Given the description of an element on the screen output the (x, y) to click on. 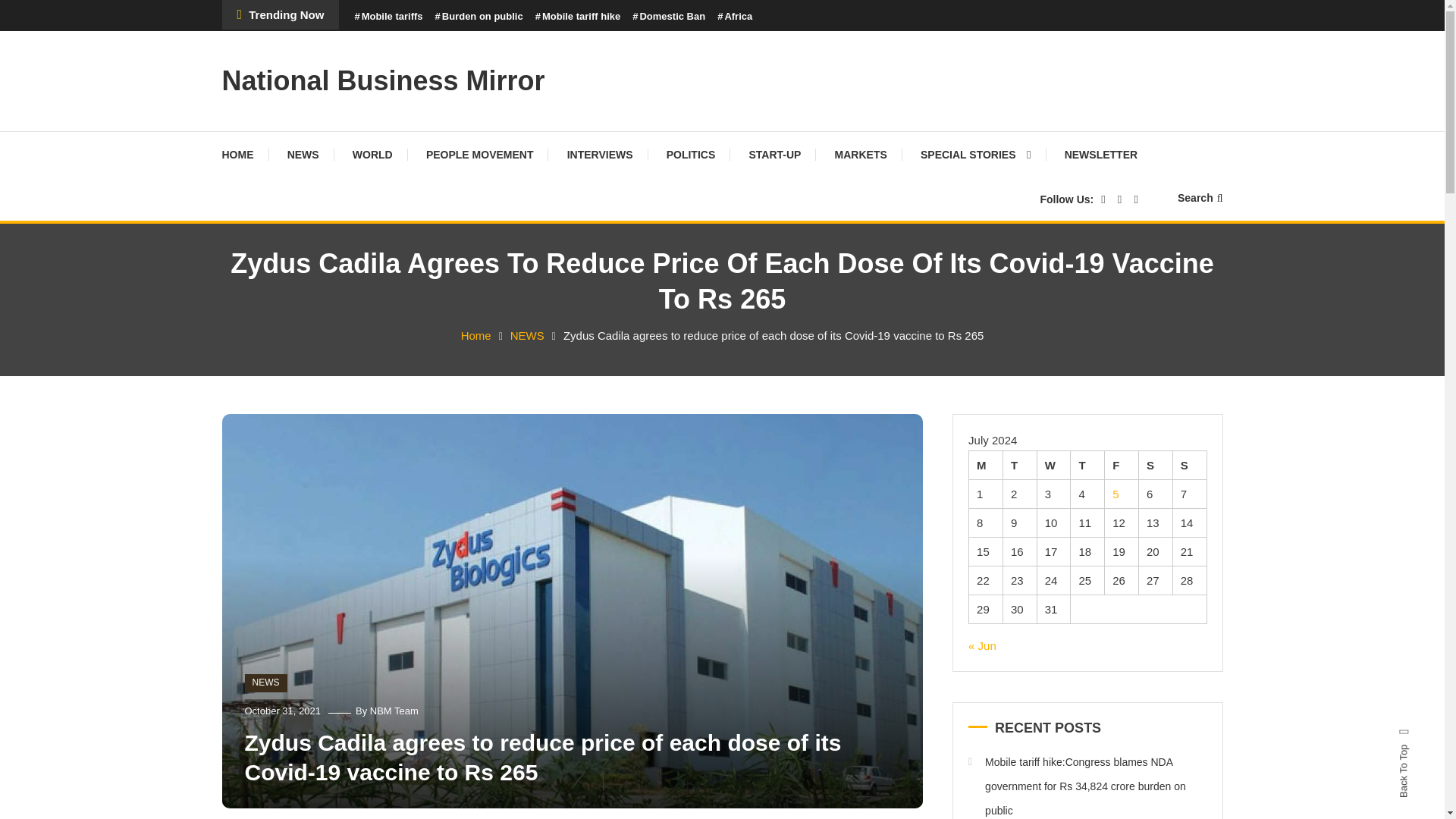
Search (768, 432)
Burden on public (478, 16)
By NBM Team (387, 710)
Mobile tariffs (387, 16)
INTERVIEWS (599, 154)
Domestic Ban (667, 16)
NEWSLETTER (1101, 154)
Wednesday (1053, 464)
HOME (244, 154)
Home (476, 335)
October 31, 2021 (282, 710)
NEWS (265, 683)
SPECIAL STORIES (975, 154)
National Business Mirror (382, 80)
